Given the description of an element on the screen output the (x, y) to click on. 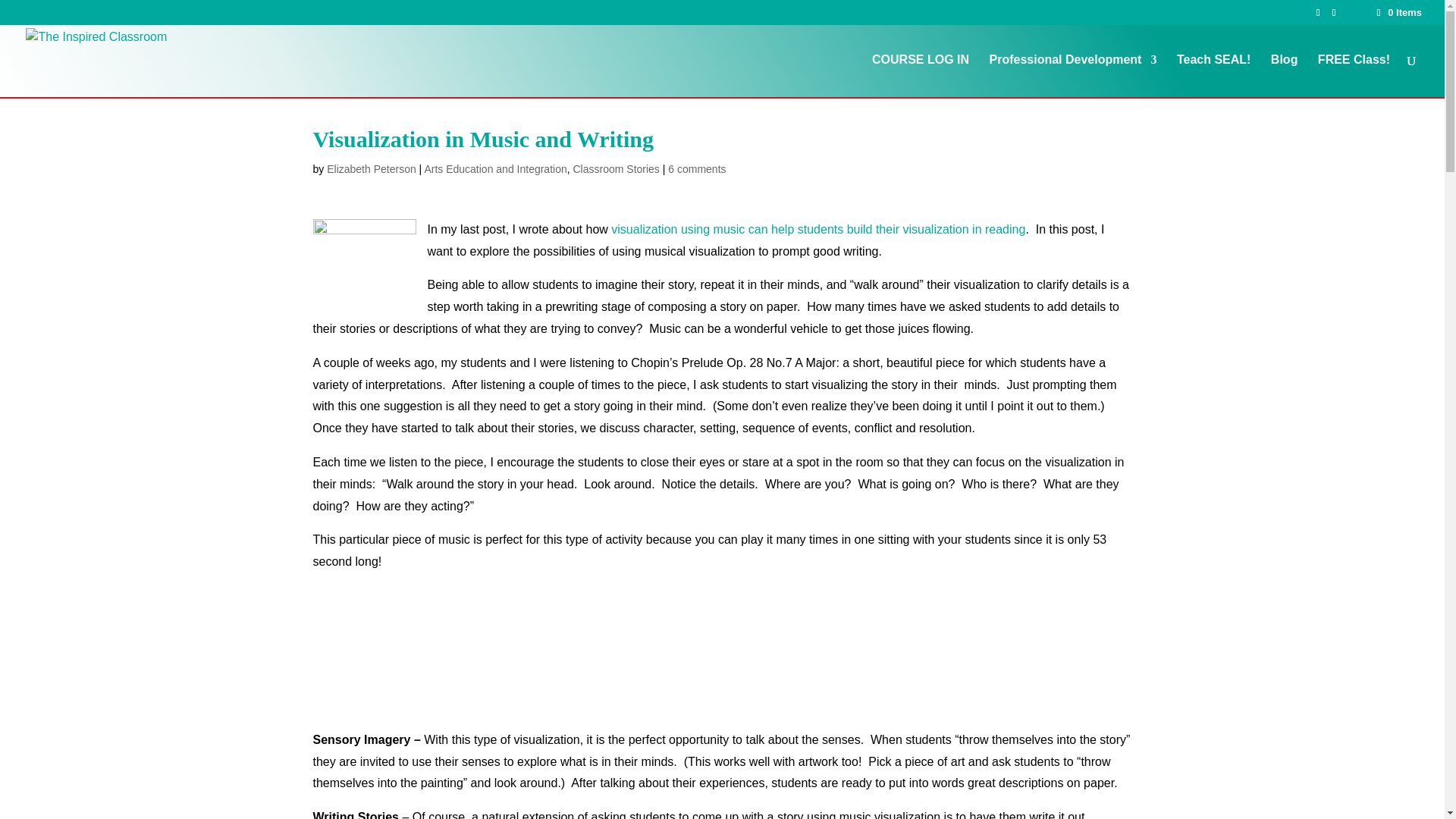
0 Items (1398, 12)
6 comments (696, 168)
FREE Class! (1353, 75)
Teach SEAL! (1213, 75)
Arts Education and Integration (494, 168)
Elizabeth Peterson (371, 168)
COURSE LOG IN (920, 75)
Posts by Elizabeth Peterson (371, 168)
Professional Development (1072, 75)
